Given the description of an element on the screen output the (x, y) to click on. 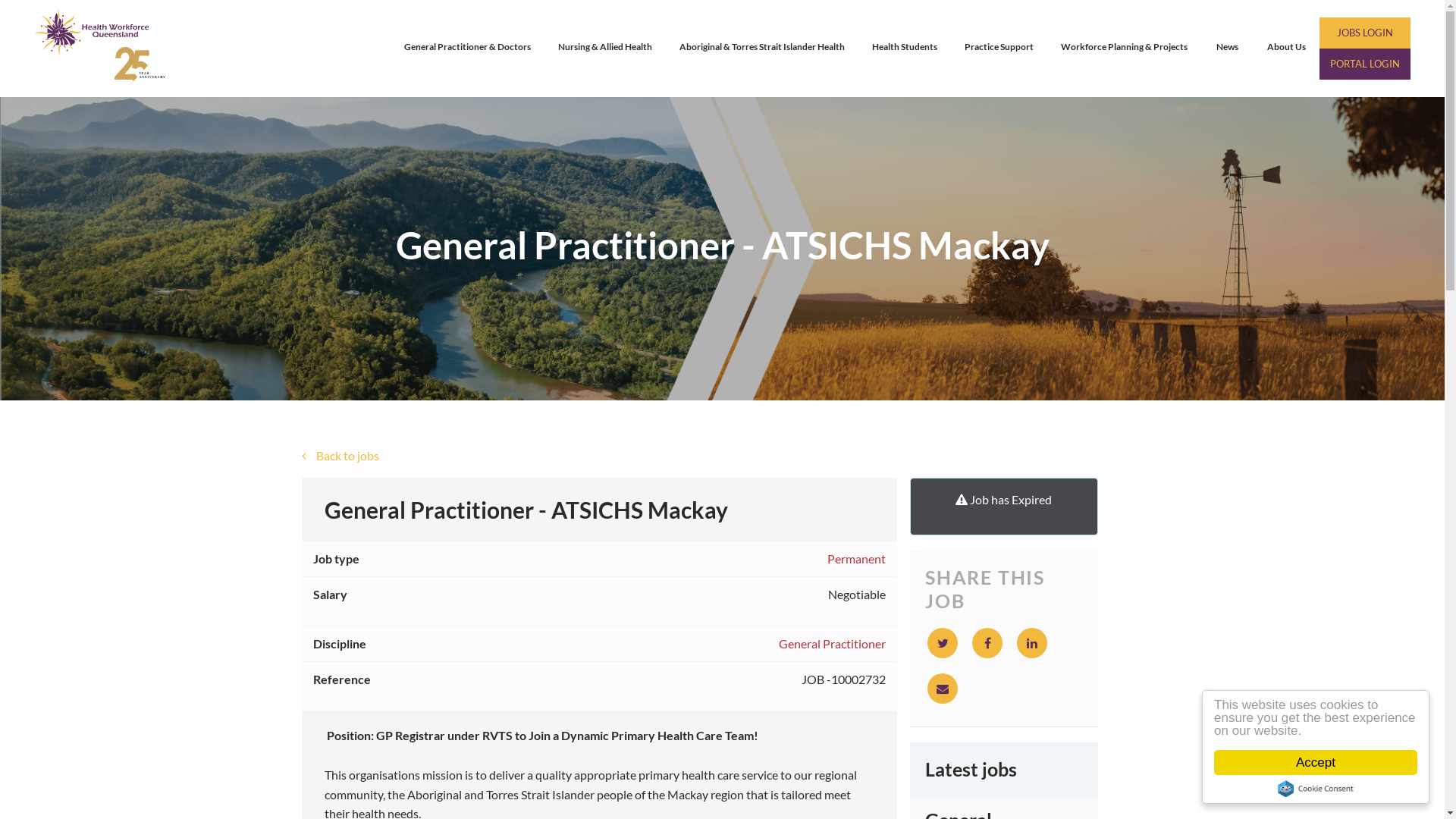
News Element type: text (1227, 48)
Practice Support Element type: text (998, 48)
Email Element type: hover (942, 688)
Workforce Planning & Projects Element type: text (1124, 48)
Accept Element type: text (1315, 762)
Permanent Element type: text (856, 558)
Back to jobs Element type: text (722, 455)
Aboriginal & Torres Strait Islander Health Element type: text (761, 48)
Cookie Consent plugin for the EU cookie law Element type: text (1315, 788)
General Practitioner & Doctors Element type: text (467, 48)
PORTAL LOGIN Element type: text (1364, 63)
LinkedIn Element type: hover (1031, 642)
Health Workforce Queensland Element type: text (104, 48)
JOBS LOGIN Element type: text (1364, 32)
General Practitioner Element type: text (831, 643)
About Us Element type: text (1286, 48)
Facebook Element type: hover (987, 642)
Twitter Element type: hover (942, 642)
Nursing & Allied Health Element type: text (604, 48)
Health Students Element type: text (904, 48)
